Given the description of an element on the screen output the (x, y) to click on. 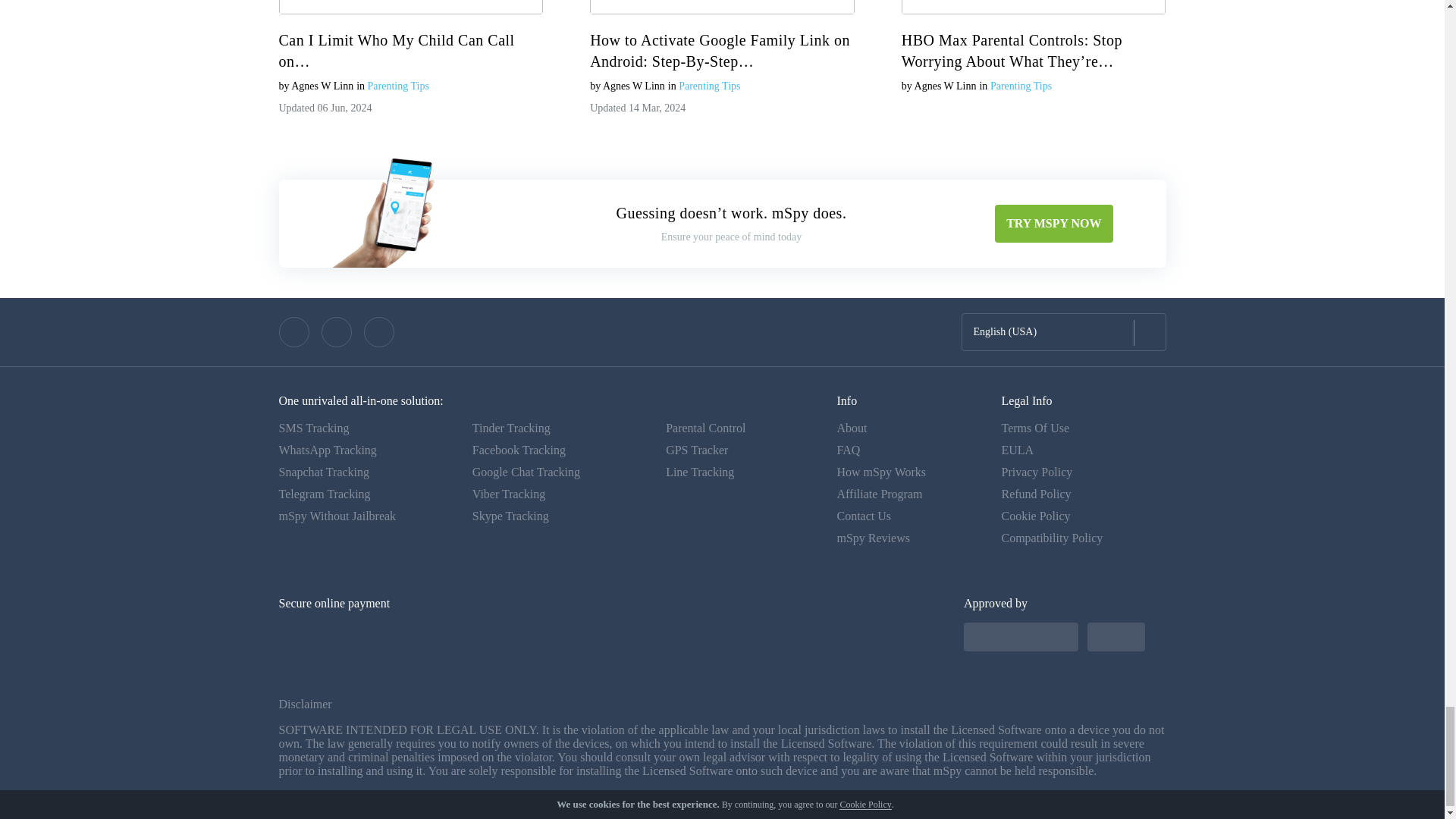
social link (293, 331)
instagram (379, 331)
Twitter (336, 331)
